Given the description of an element on the screen output the (x, y) to click on. 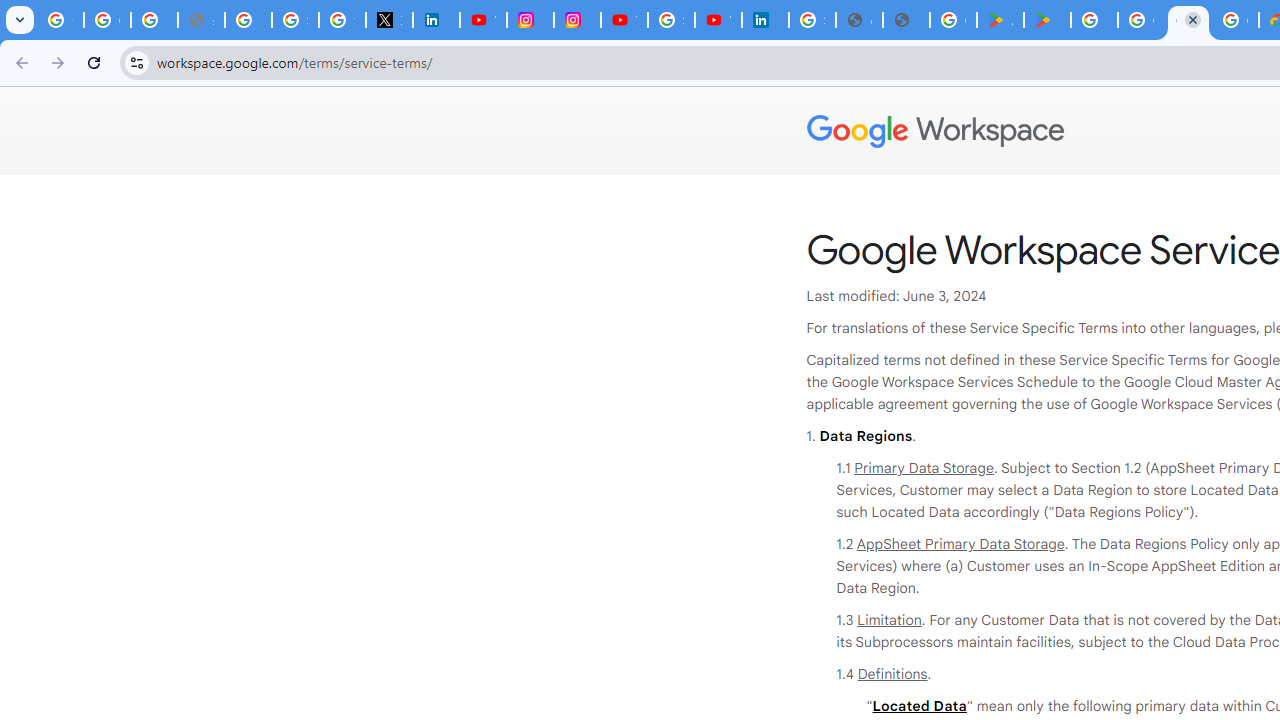
Sign in - Google Accounts (671, 20)
